Given the description of an element on the screen output the (x, y) to click on. 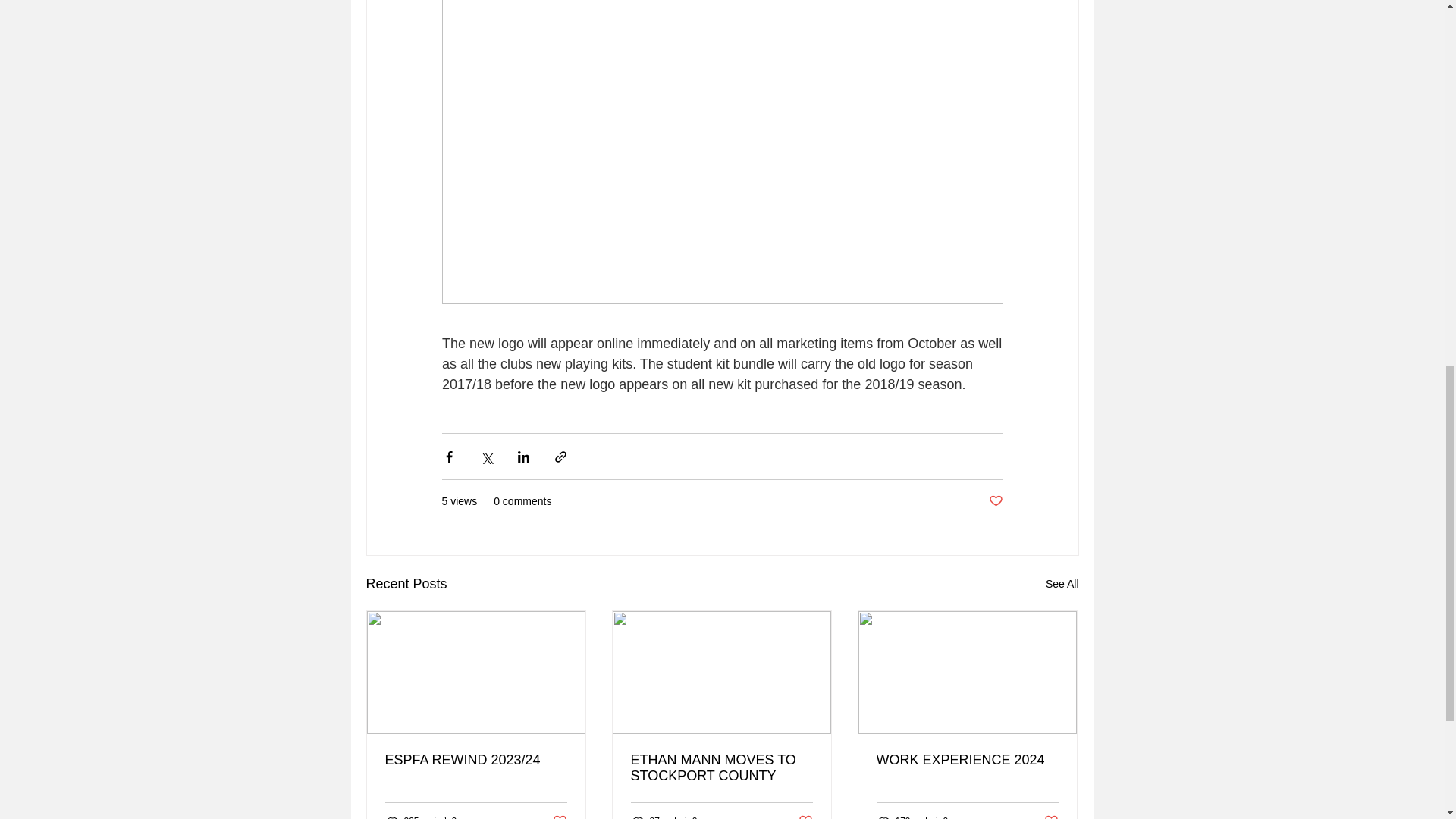
See All (1061, 584)
0 (445, 816)
Post not marked as liked (558, 816)
Post not marked as liked (995, 501)
